Given the description of an element on the screen output the (x, y) to click on. 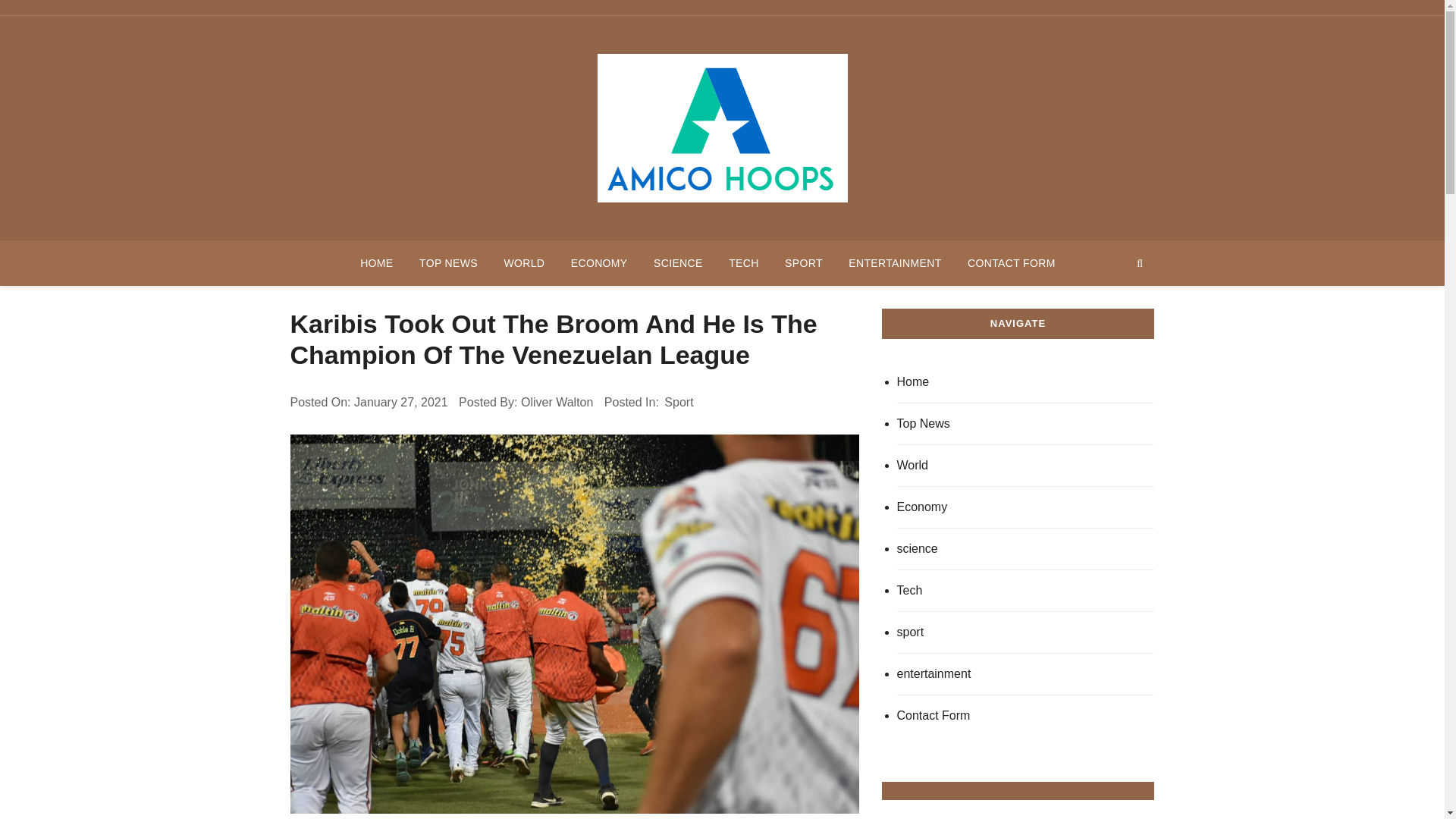
SPORT (803, 262)
Oliver Walton (556, 402)
ENTERTAINMENT (894, 262)
Home (1025, 382)
TOP NEWS (448, 262)
HOME (376, 262)
TECH (743, 262)
Top News (1025, 424)
January 27, 2021 (400, 402)
CONTACT FORM (1011, 262)
World (1025, 465)
ECONOMY (599, 262)
Sport (678, 402)
SCIENCE (678, 262)
